Given the description of an element on the screen output the (x, y) to click on. 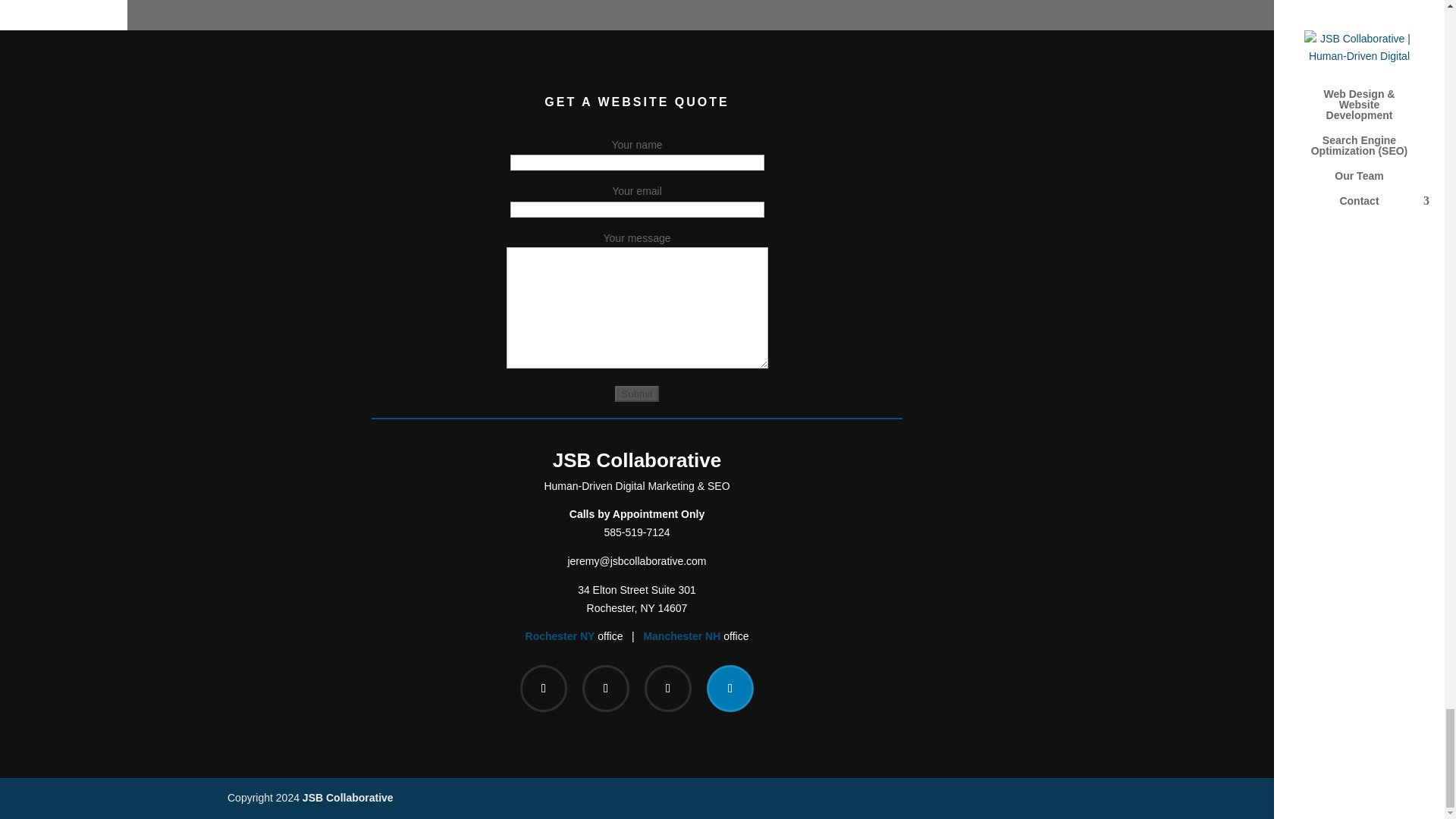
Submit (636, 598)
Submit (636, 393)
Manchester NH (636, 393)
Rochester NY (681, 635)
JSB Collaborative (560, 635)
585-519-7124 (637, 459)
